Given the description of an element on the screen output the (x, y) to click on. 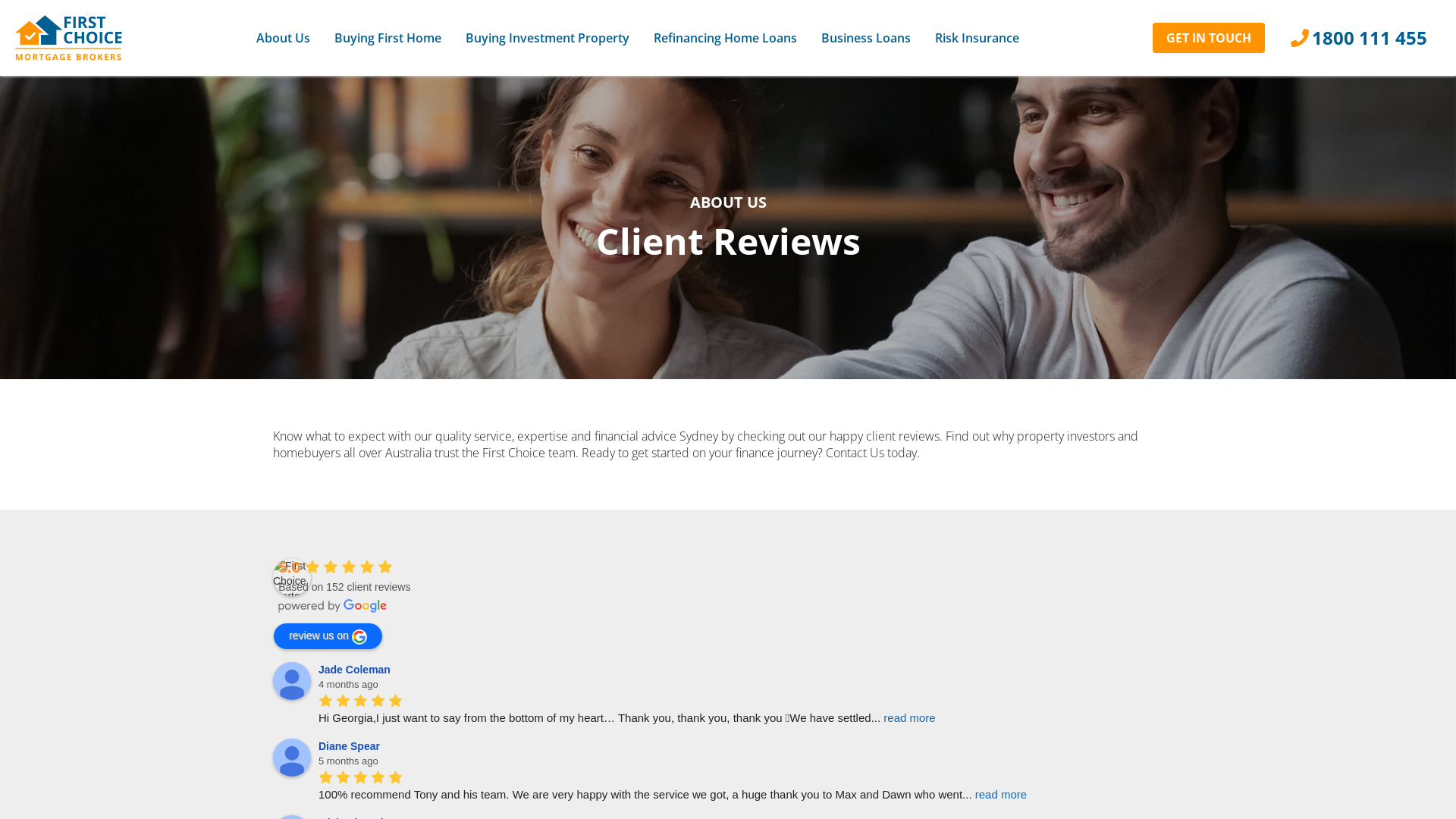
review us on Element type: text (327, 636)
powered by Google Element type: hover (332, 605)
Jade Coleman Element type: hover (291, 680)
Contact Us Element type: text (854, 452)
About Us Element type: text (283, 37)
ABOUT US Element type: text (728, 201)
1800 111 455 Element type: text (1358, 37)
Business Loans Element type: text (865, 37)
Diane Spear Element type: hover (291, 757)
Jade Coleman Element type: text (356, 669)
First Choice Mortgage Brokers Element type: hover (291, 577)
Buying Investment Property Element type: text (547, 37)
Diane Spear Element type: text (351, 746)
Risk Insurance Element type: text (976, 37)
Refinancing Home Loans Element type: text (725, 37)
Buying First Home Element type: text (387, 37)
GET IN TOUCH Element type: text (1208, 37)
